Given the description of an element on the screen output the (x, y) to click on. 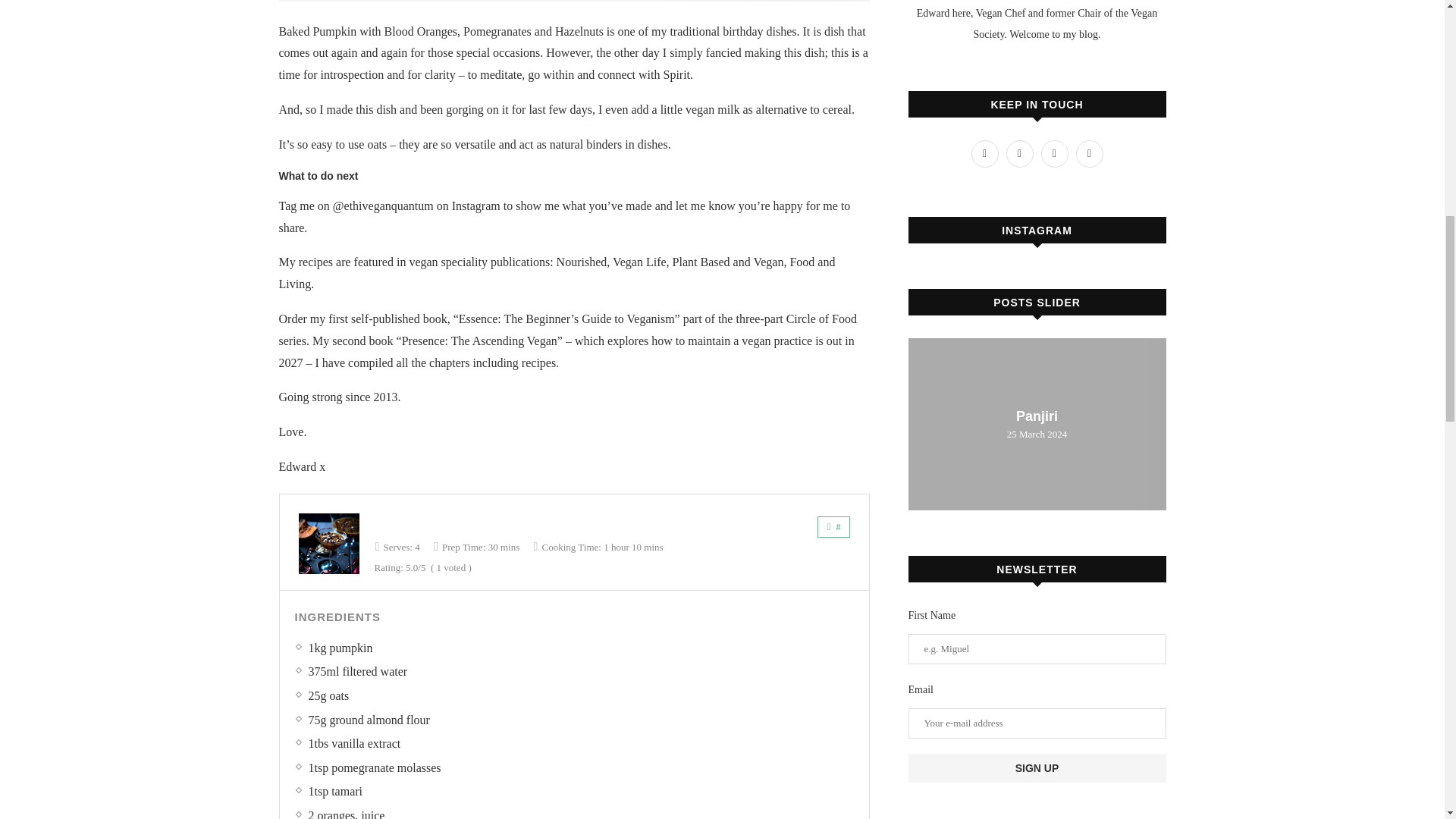
Sign up (1037, 767)
Baked Pumpkin Dessert Side (328, 543)
